Given the description of an element on the screen output the (x, y) to click on. 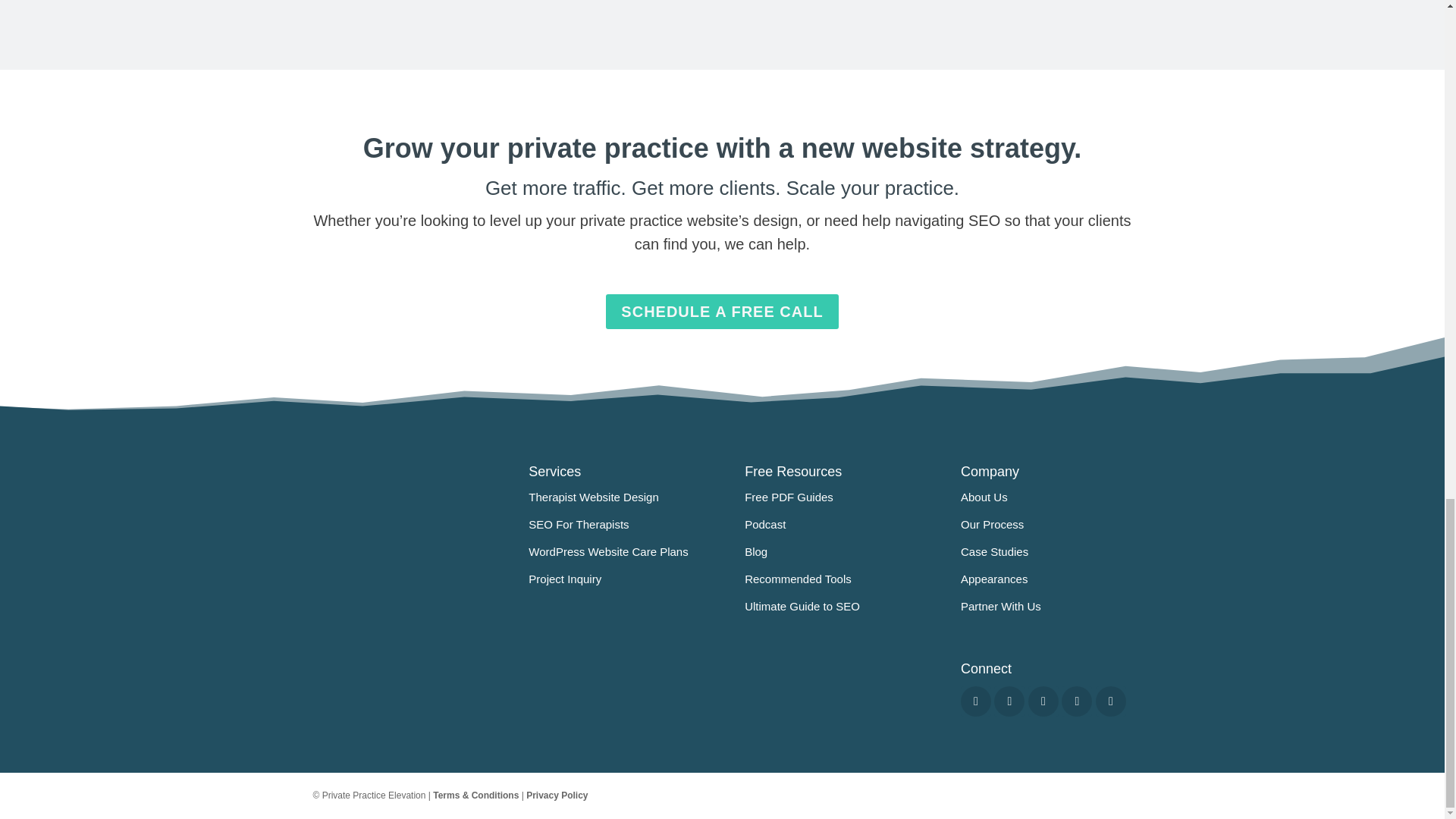
Free PDF Guides (788, 496)
WordPress Website Care Plans (607, 551)
Blog (755, 551)
About Us (983, 496)
Our Process (991, 523)
Ultimate Guide to SEO (802, 605)
SCHEDULE A FREE CALL (721, 311)
SEO For Therapists (578, 523)
Recommended Tools (797, 578)
Podcast (765, 523)
